Given the description of an element on the screen output the (x, y) to click on. 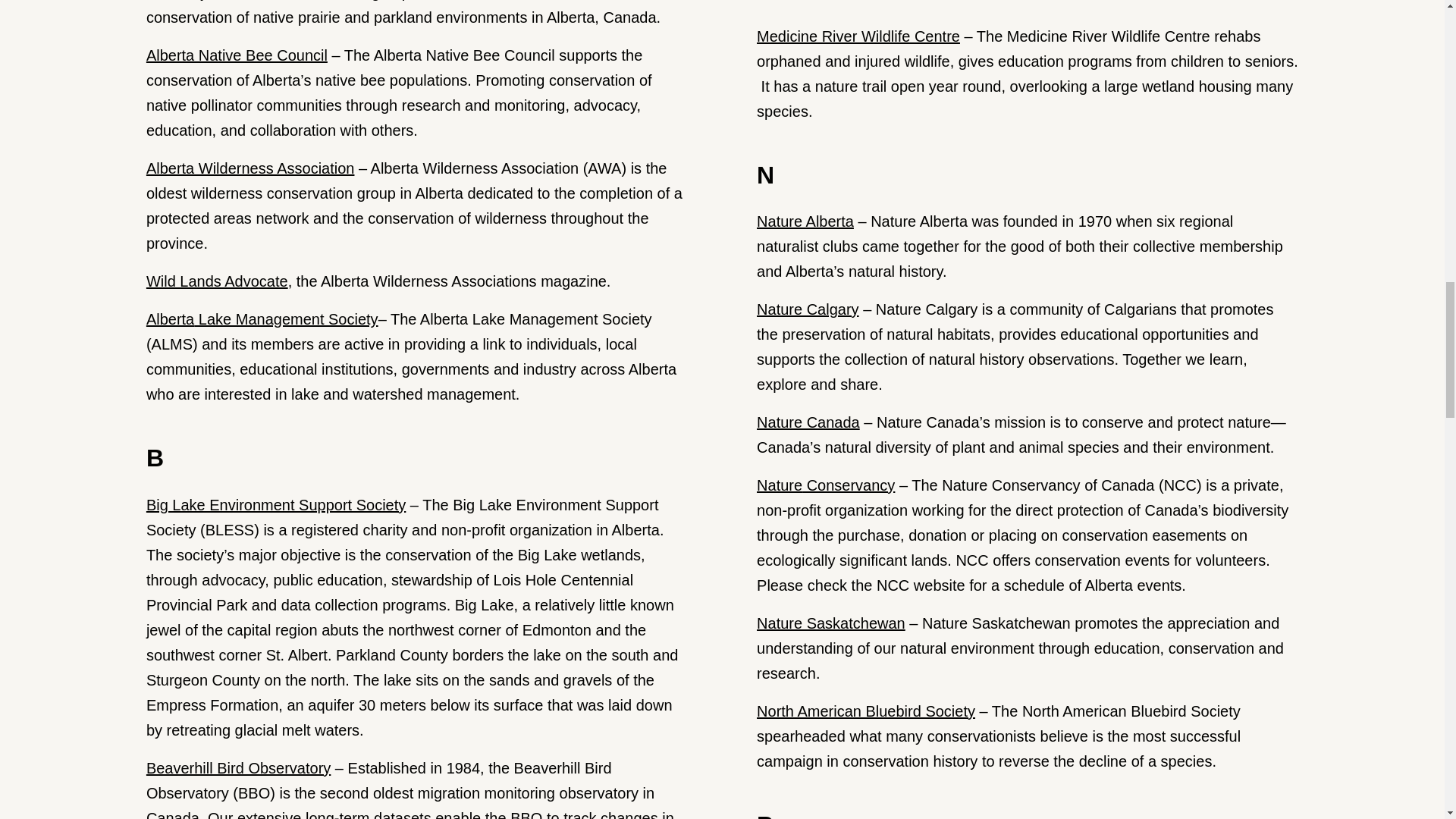
Alberta Wilderness Association (251, 167)
